Given the description of an element on the screen output the (x, y) to click on. 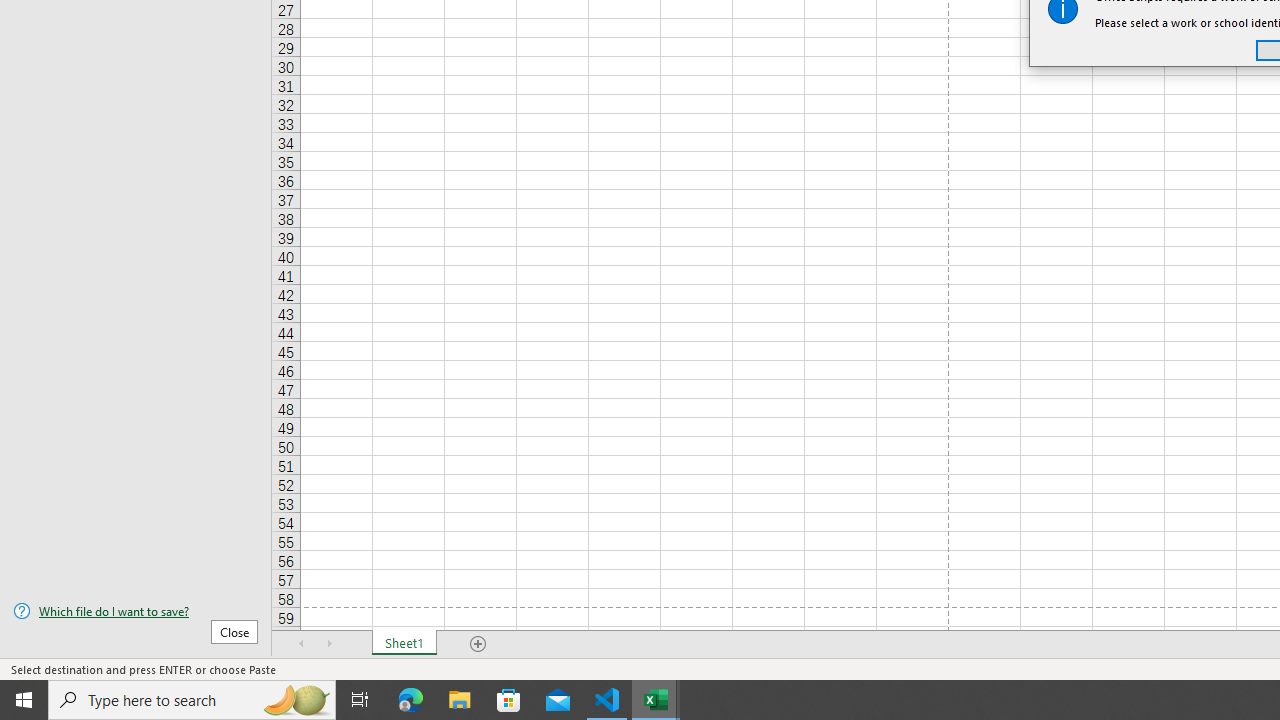
Task View (359, 699)
Close (234, 631)
Visual Studio Code - 1 running window (607, 699)
Microsoft Store (509, 699)
Scroll Right (330, 644)
Excel - 2 running windows (656, 699)
Add Sheet (478, 644)
Sheet1 (404, 644)
Search highlights icon opens search home window (295, 699)
File Explorer (460, 699)
Type here to search (191, 699)
Start (24, 699)
Microsoft Edge (411, 699)
Scroll Left (302, 644)
